Given the description of an element on the screen output the (x, y) to click on. 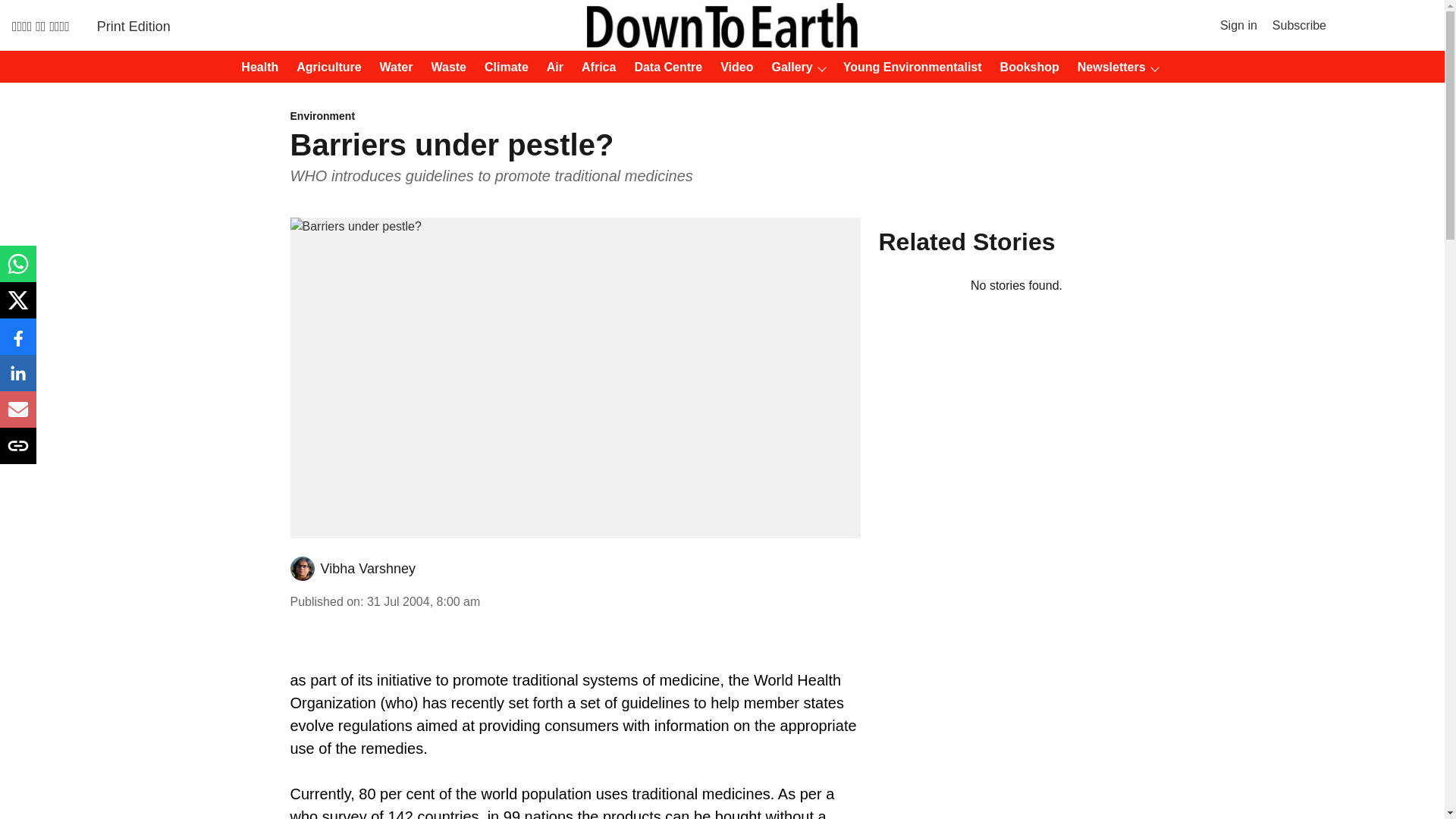
Vibha Varshney (367, 568)
2004-07-31 00:00 (423, 601)
Agriculture (323, 67)
Environment (574, 116)
Data Centre (662, 67)
Waste (443, 67)
Video (731, 67)
Africa (593, 67)
Print Edition (133, 26)
Climate (502, 67)
